Given the description of an element on the screen output the (x, y) to click on. 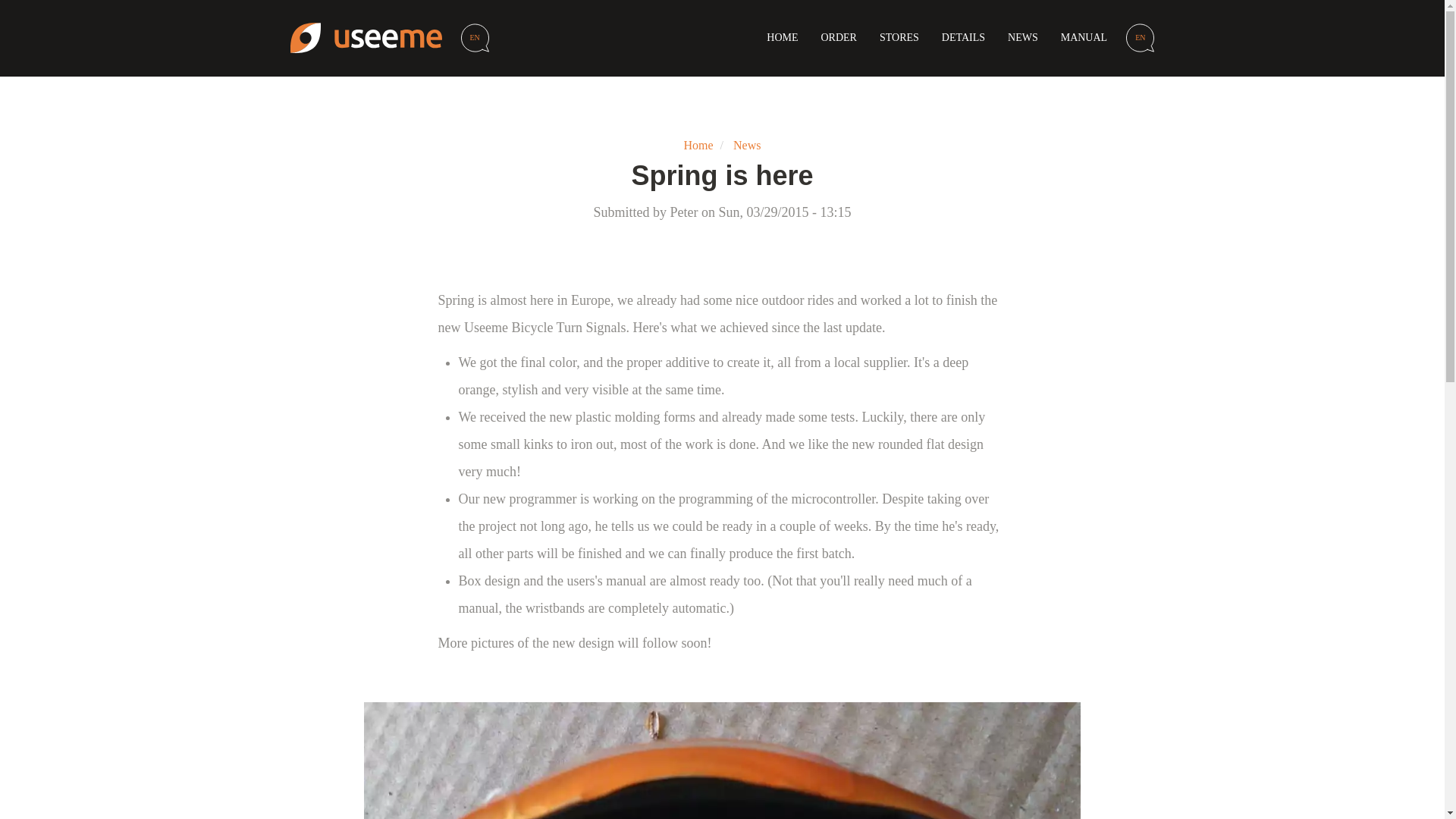
EN (475, 37)
Home (370, 37)
Home (698, 144)
EN (1139, 37)
MANUAL (1083, 38)
News (746, 144)
